Given the description of an element on the screen output the (x, y) to click on. 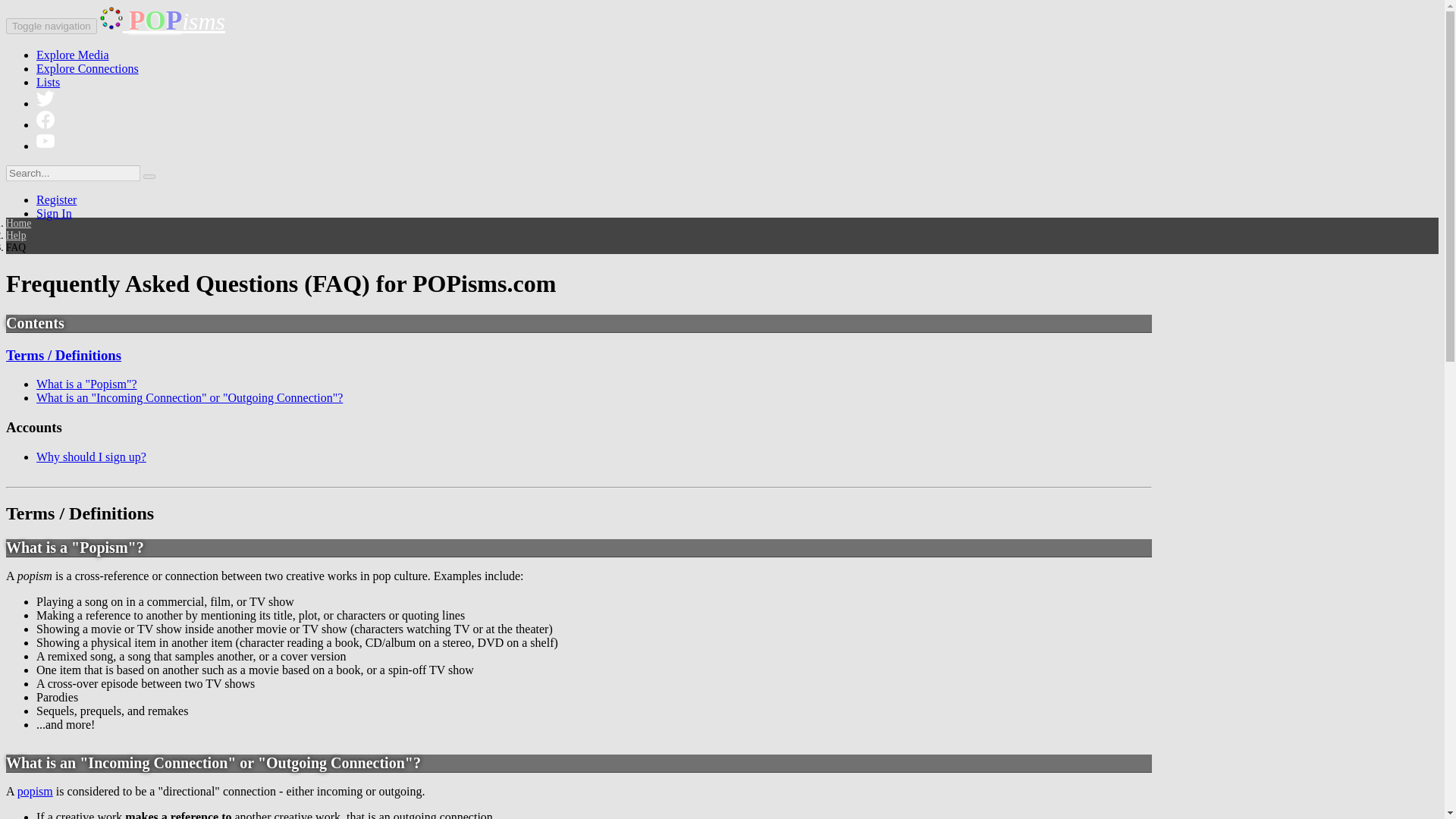
POPisms (162, 21)
Sign In (53, 213)
Toggle navigation (51, 26)
POPisms Home (162, 21)
Why should I sign up? (91, 456)
Register (56, 199)
What is an "Incoming Connection" or "Outgoing Connection"? (189, 397)
What is a "Popism"? (86, 383)
Help (15, 235)
Explore Media (72, 54)
Explore Connections (87, 68)
Home (17, 223)
Lists (47, 82)
Currated Pop Culture Lists (47, 82)
popism (34, 790)
